Given the description of an element on the screen output the (x, y) to click on. 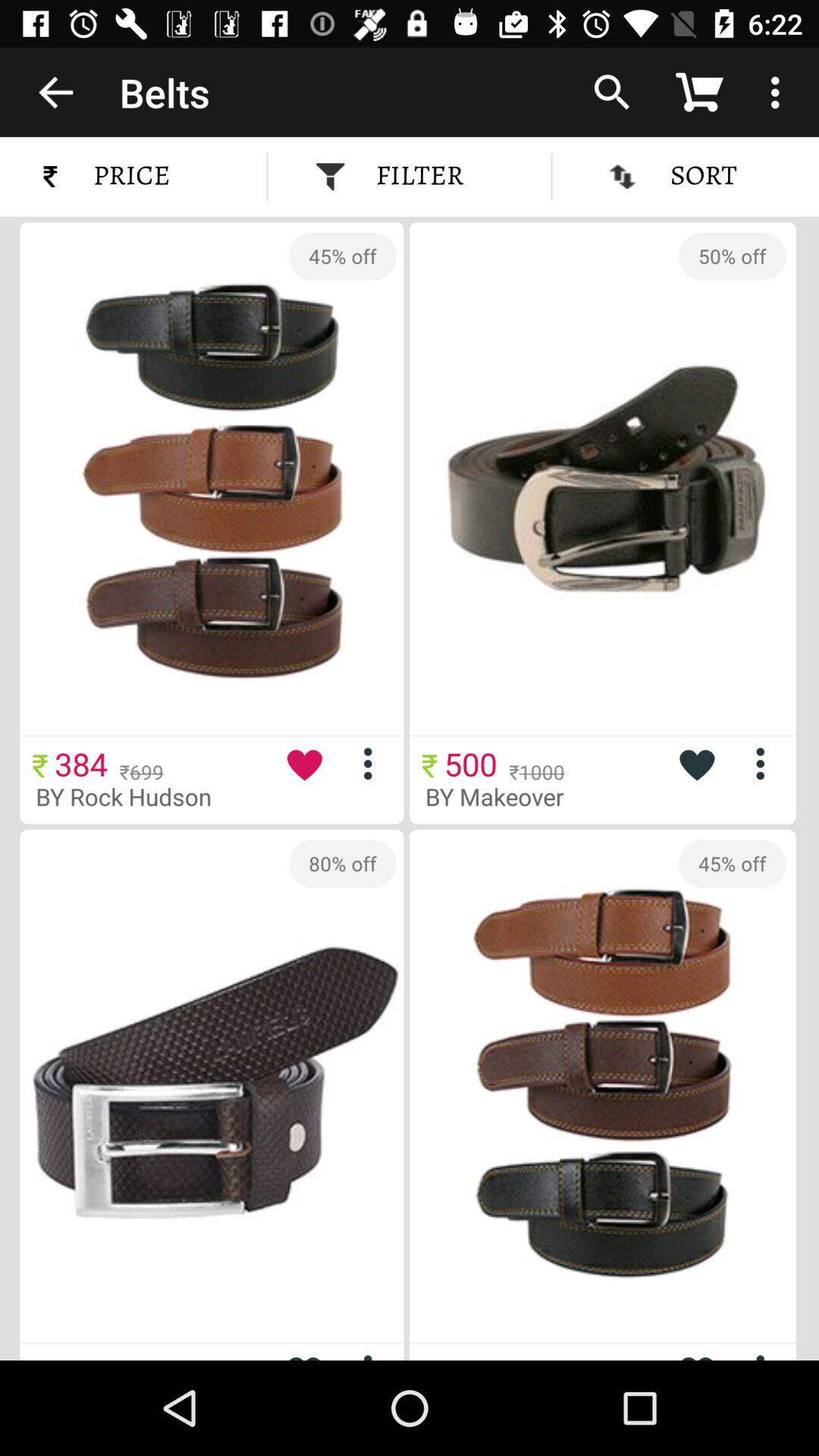
see more (766, 763)
